Given the description of an element on the screen output the (x, y) to click on. 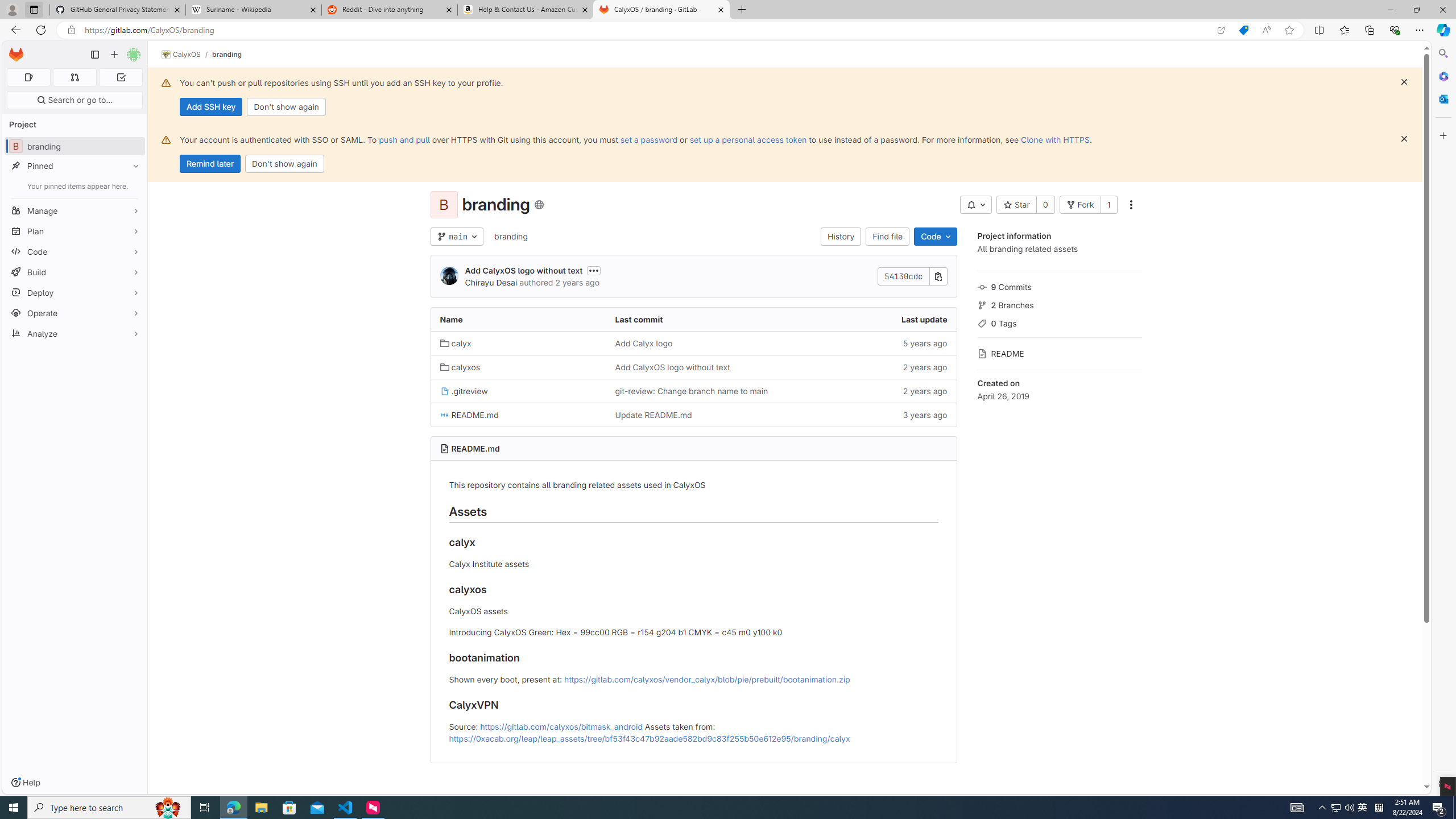
https://gitlab.com/calyxos/bitmask_android (561, 726)
Build (74, 271)
README (1058, 352)
calyx (455, 342)
3 years ago (868, 414)
Create new... (113, 54)
Shopping in Microsoft Edge (1243, 29)
.gitreview (463, 390)
Operate (74, 312)
9 Commits (1058, 286)
Toggle commit description (593, 270)
Homepage (16, 54)
